Given the description of an element on the screen output the (x, y) to click on. 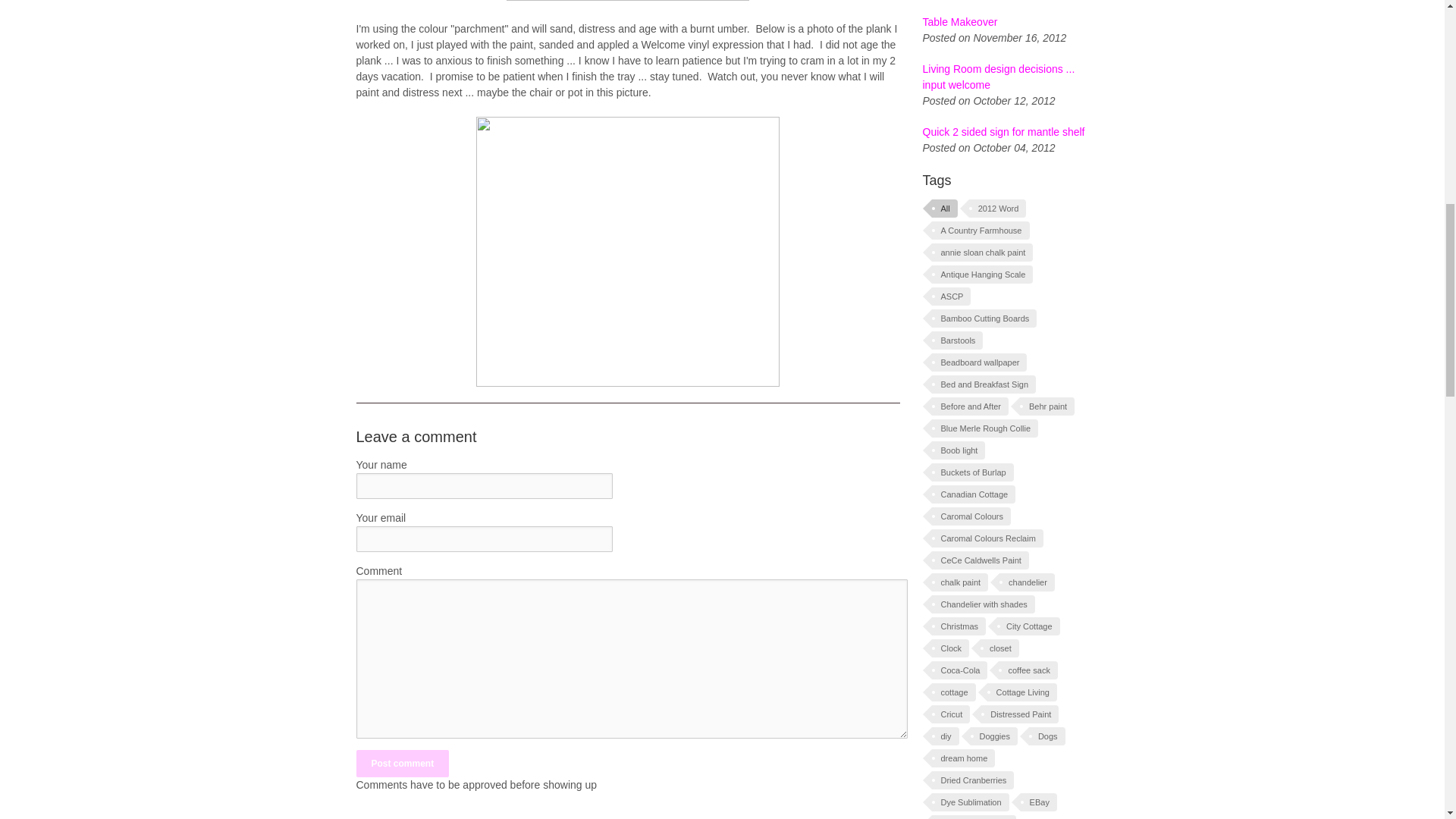
Show articles tagged A Country Farmhouse (980, 230)
Show articles tagged 2012 Word (997, 208)
Show articles tagged Caromal Colours Reclaim (986, 538)
Show articles tagged annie sloan chalk paint (981, 252)
Show articles tagged CeCe Caldwells Paint (979, 560)
Show articles tagged ASCP (951, 296)
Show articles tagged Bamboo Cutting Boards (983, 318)
Show articles tagged Antique Hanging Scale (981, 274)
Post comment (402, 763)
Show articles tagged Blue Merle Rough Collie (984, 428)
